Given the description of an element on the screen output the (x, y) to click on. 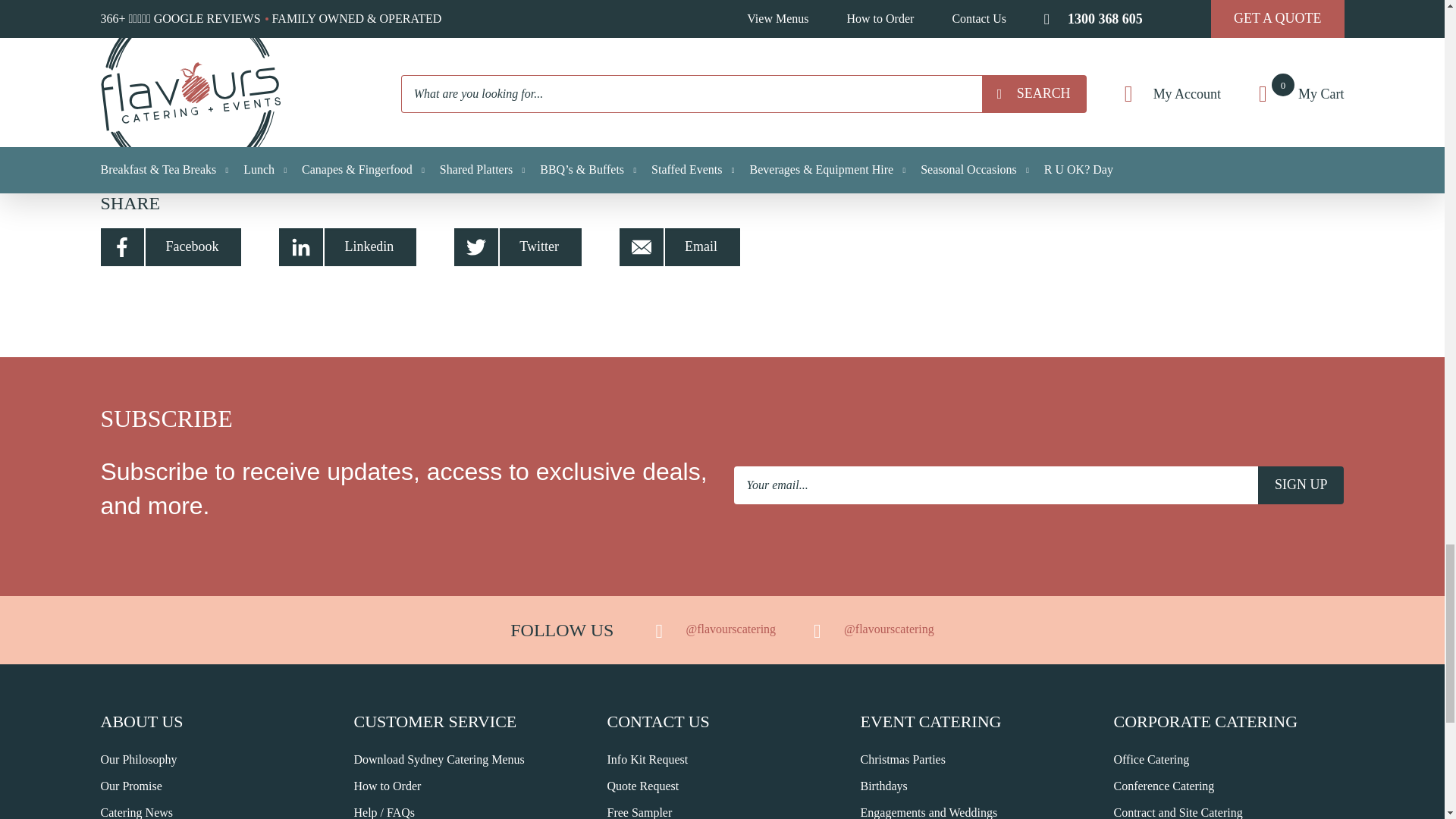
Sign up (1300, 485)
Share by Linkedin (347, 247)
Share by Twitter (517, 247)
Share by Email (679, 247)
Share by Facebook (170, 247)
